Given the description of an element on the screen output the (x, y) to click on. 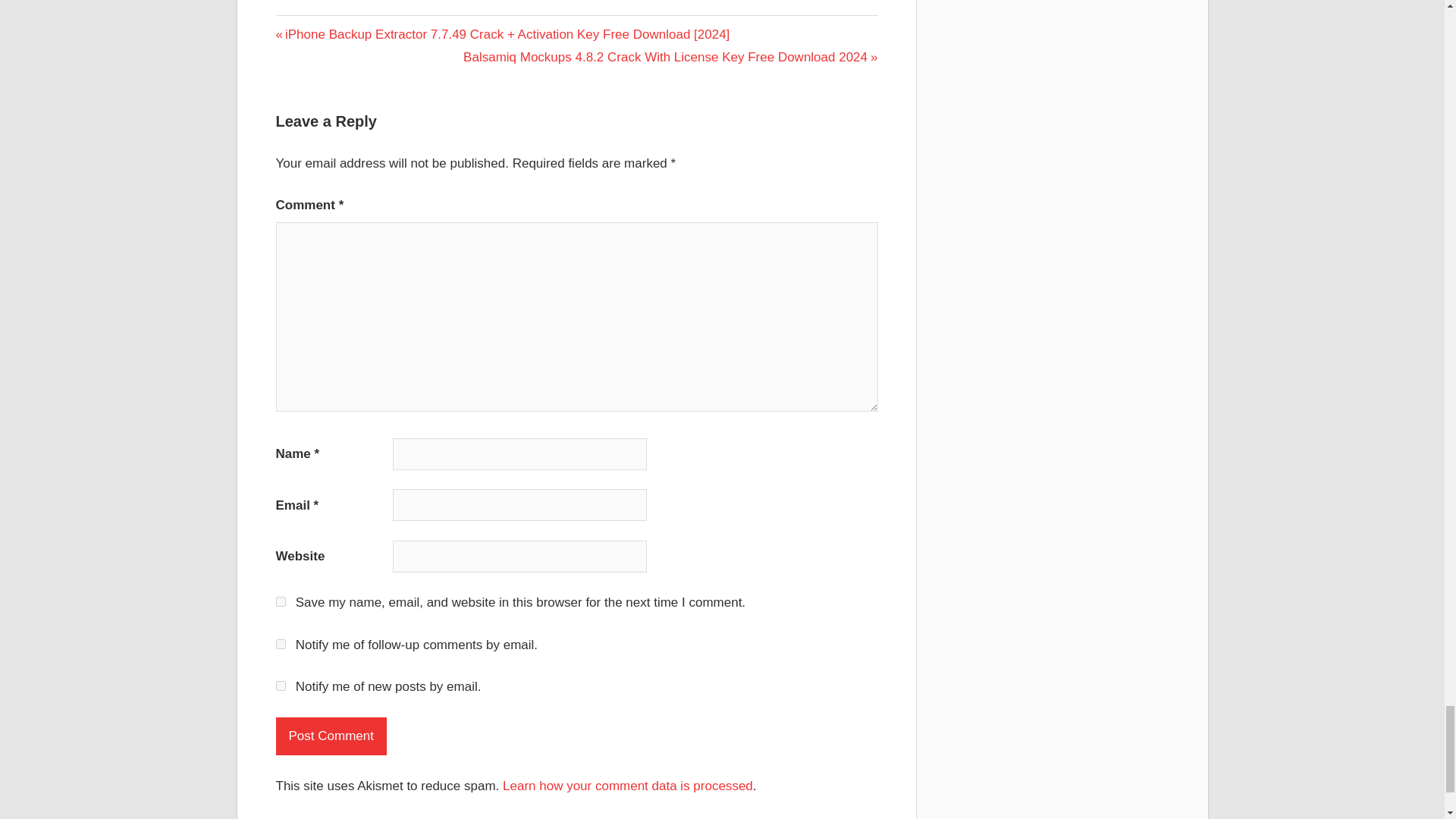
yes (280, 601)
subscribe (280, 644)
Post Comment (331, 736)
subscribe (280, 685)
